Given the description of an element on the screen output the (x, y) to click on. 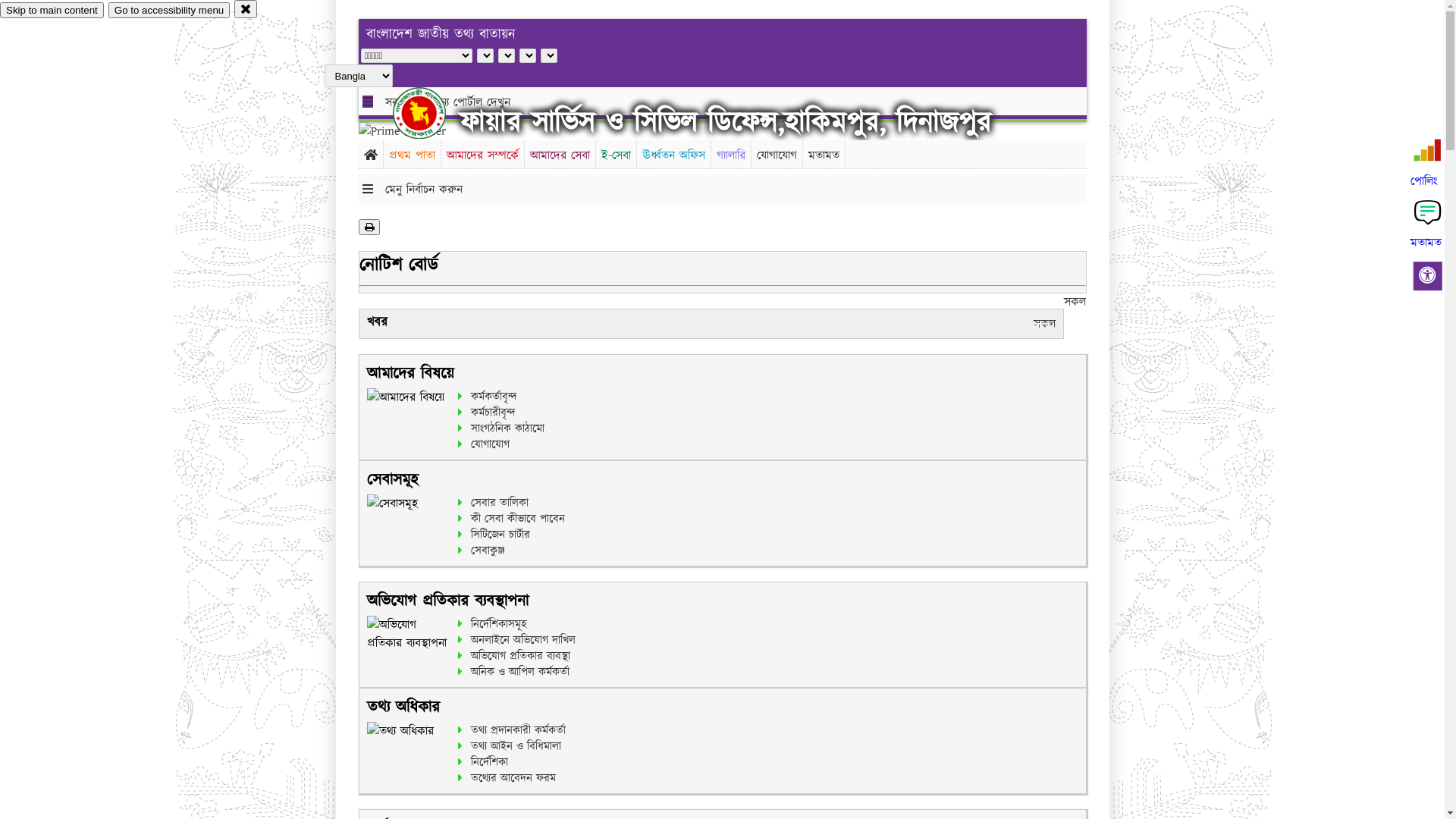
Go to accessibility menu Element type: text (168, 10)
close Element type: hover (245, 9)

                
             Element type: hover (431, 112)
Skip to main content Element type: text (51, 10)
